Given the description of an element on the screen output the (x, y) to click on. 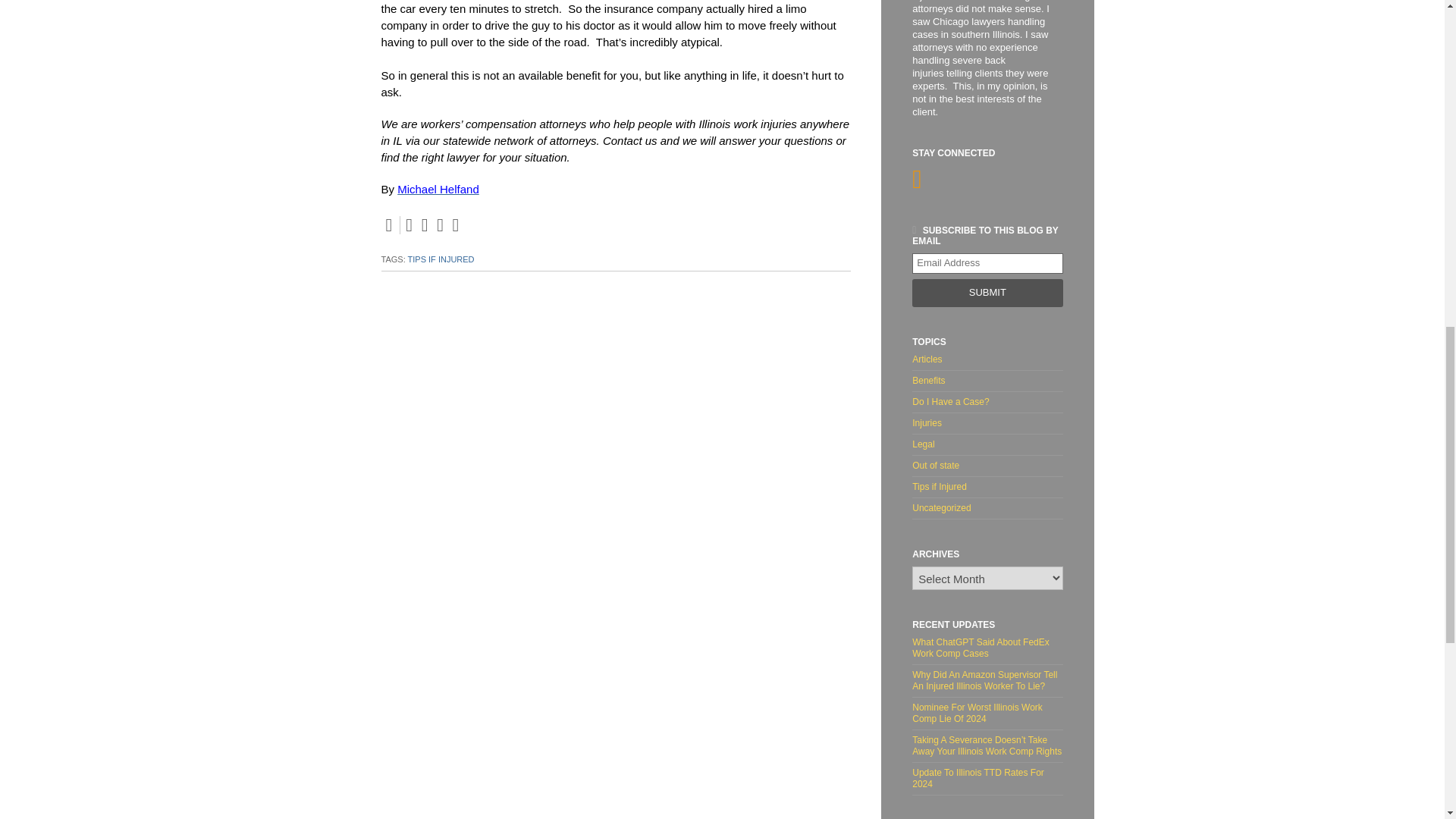
SUBMIT (987, 293)
Tips if Injured (987, 486)
Update To Illinois TTD Rates For 2024 (987, 778)
Legal (987, 444)
Injuries (987, 423)
SUBMIT (987, 293)
What ChatGPT Said About FedEx Work Comp Cases (987, 650)
Out of state (987, 465)
Uncategorized (987, 507)
